Given the description of an element on the screen output the (x, y) to click on. 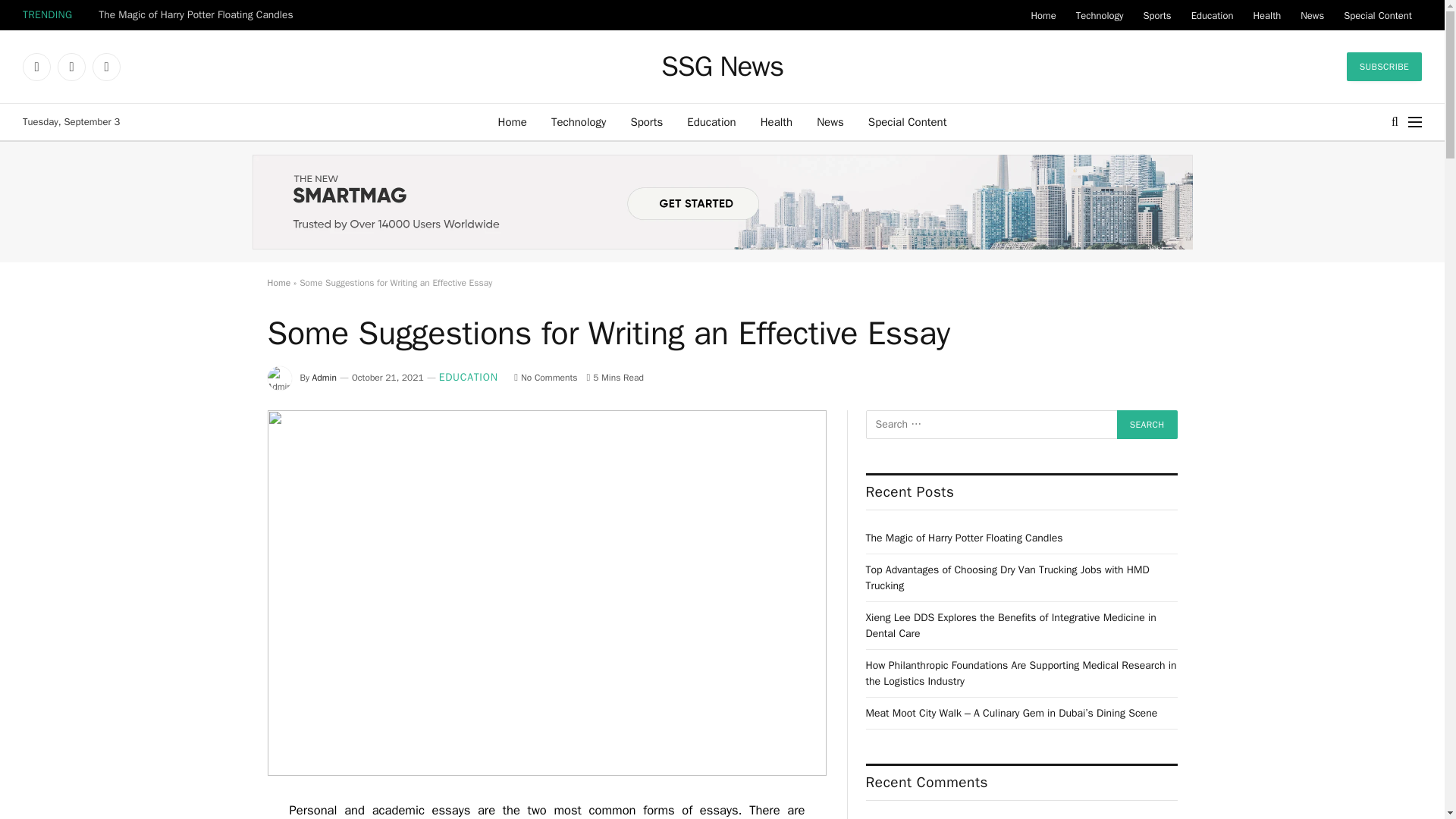
Health (776, 122)
Sports (646, 122)
Facebook (36, 67)
Home (512, 122)
Technology (578, 122)
ssgnews.com (722, 66)
Special Content (1377, 15)
Home (1042, 15)
The Magic of Harry Potter Floating Candles (199, 15)
News (830, 122)
